Given the description of an element on the screen output the (x, y) to click on. 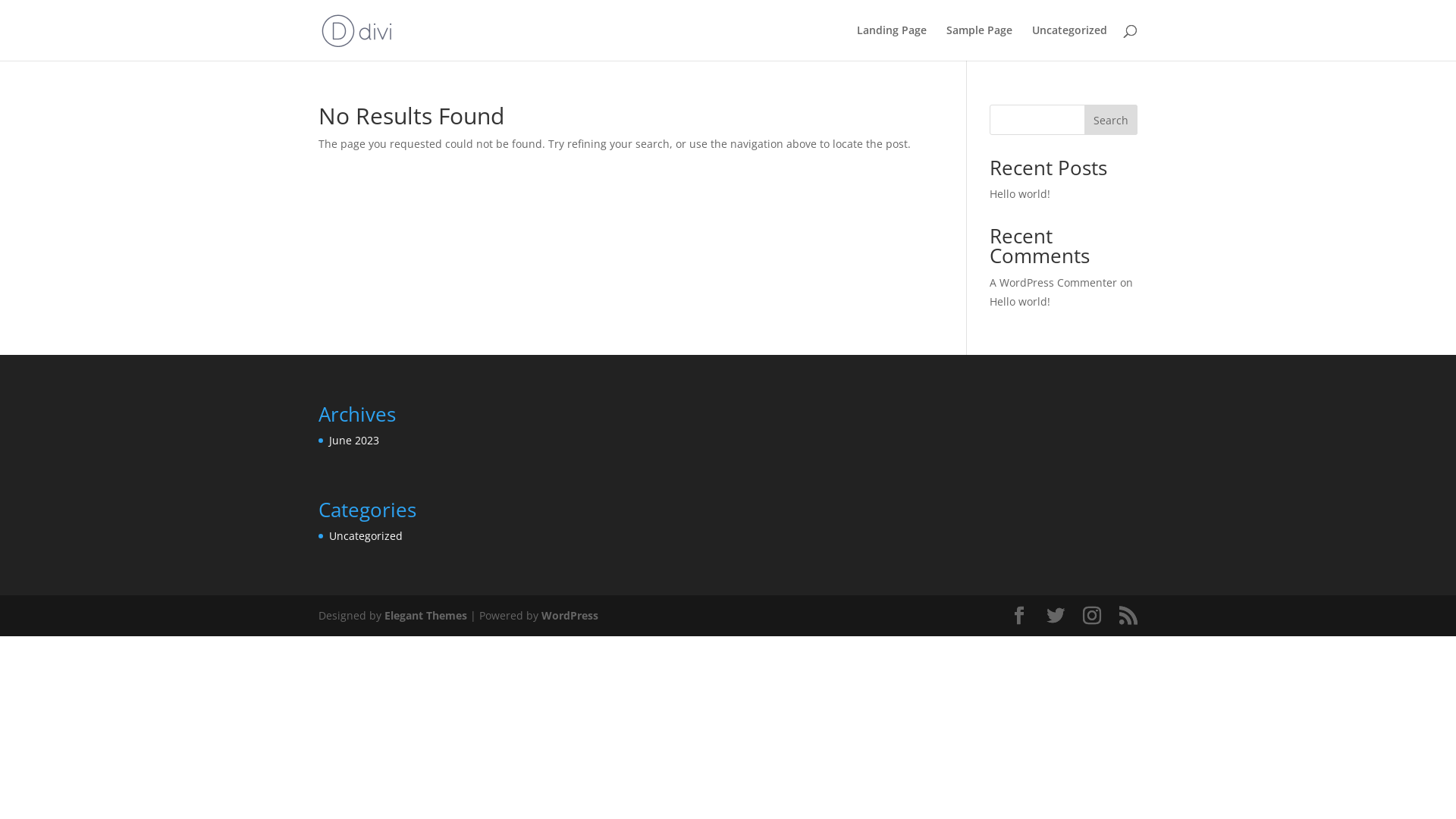
Uncategorized Element type: text (365, 535)
Hello world! Element type: text (1019, 193)
Hello world! Element type: text (1019, 301)
June 2023 Element type: text (354, 440)
Elegant Themes Element type: text (425, 615)
A WordPress Commenter Element type: text (1053, 282)
WordPress Element type: text (569, 615)
Landing Page Element type: text (891, 42)
Sample Page Element type: text (979, 42)
Uncategorized Element type: text (1069, 42)
Search Element type: text (1110, 119)
